Given the description of an element on the screen output the (x, y) to click on. 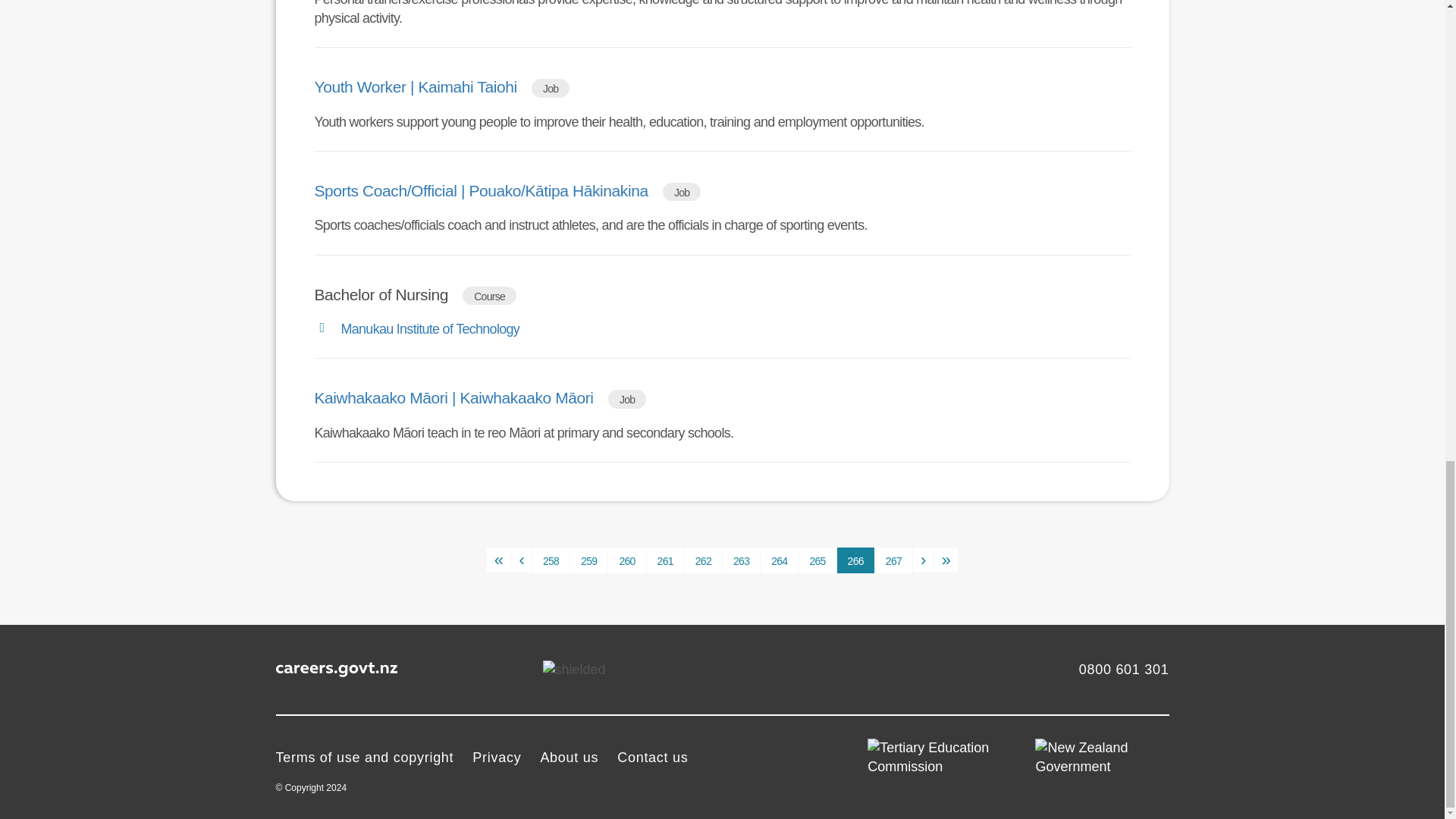
View page number 267 (893, 560)
View page number 258 (550, 560)
View page number 265 (816, 560)
View page number 259 (588, 560)
View page number 264 (778, 560)
View page number 263 (741, 560)
View page number 266 (855, 560)
View page number 260 (626, 560)
View page number 261 (665, 560)
View page number 262 (703, 560)
